Given the description of an element on the screen output the (x, y) to click on. 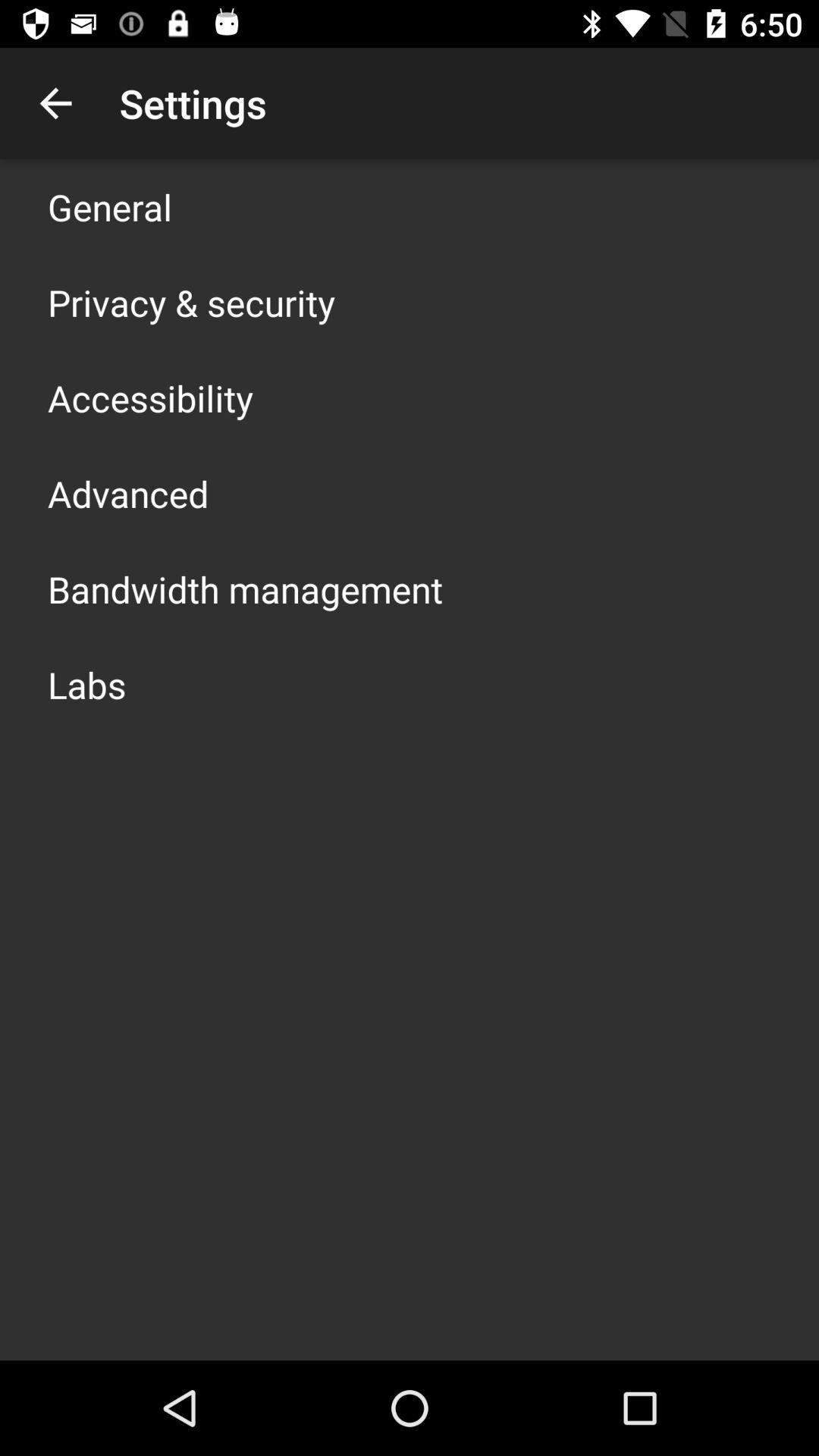
flip to privacy & security app (190, 302)
